Given the description of an element on the screen output the (x, y) to click on. 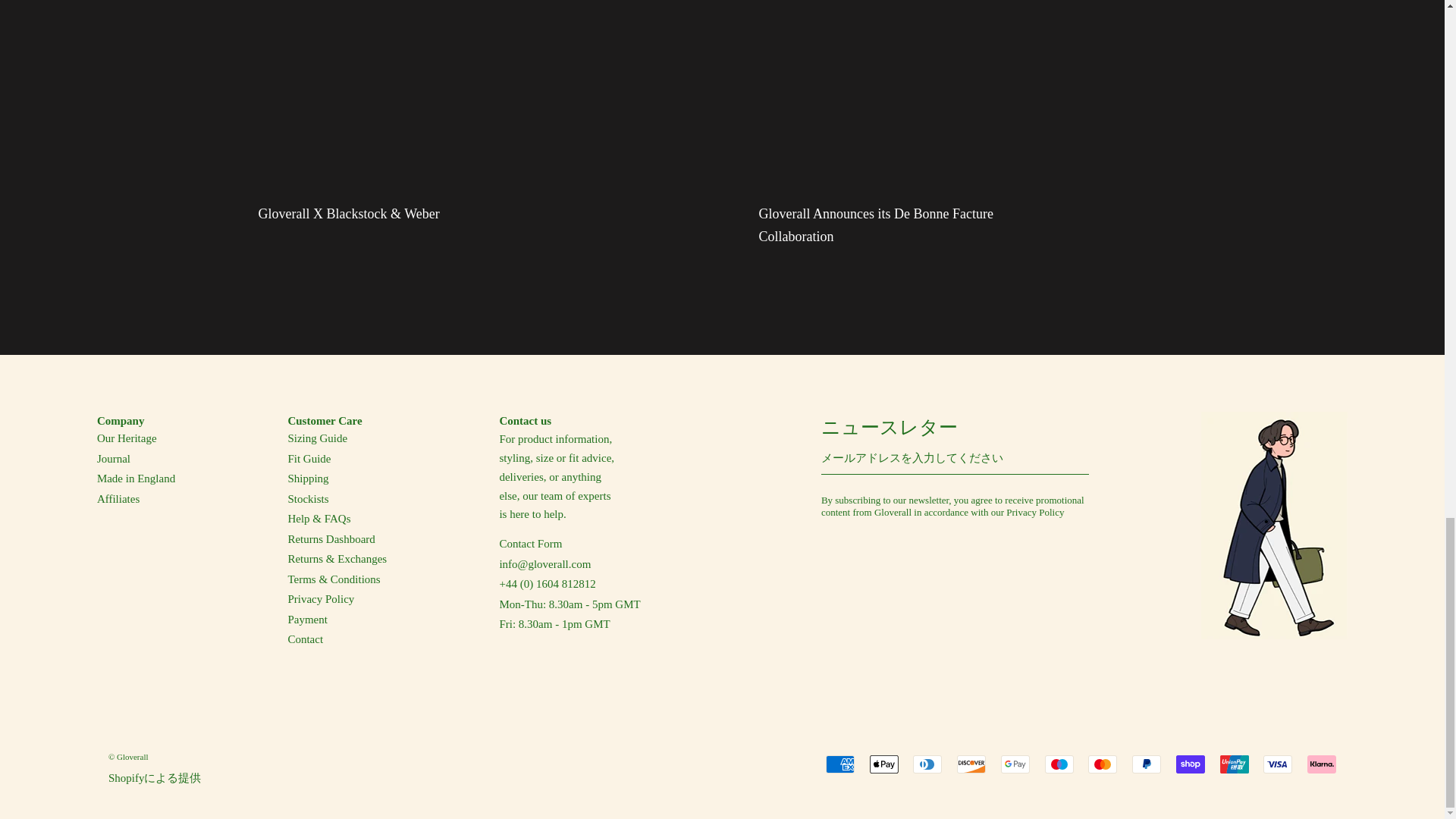
Mastercard (1101, 764)
PayPal (1146, 764)
Discover (970, 764)
American Express (839, 764)
Shop Pay (1190, 764)
Diners Club (927, 764)
Union Pay (1234, 764)
Visa (1277, 764)
Maestro (1059, 764)
Klarna (1321, 764)
Apple Pay (883, 764)
Google Pay (1015, 764)
